Given the description of an element on the screen output the (x, y) to click on. 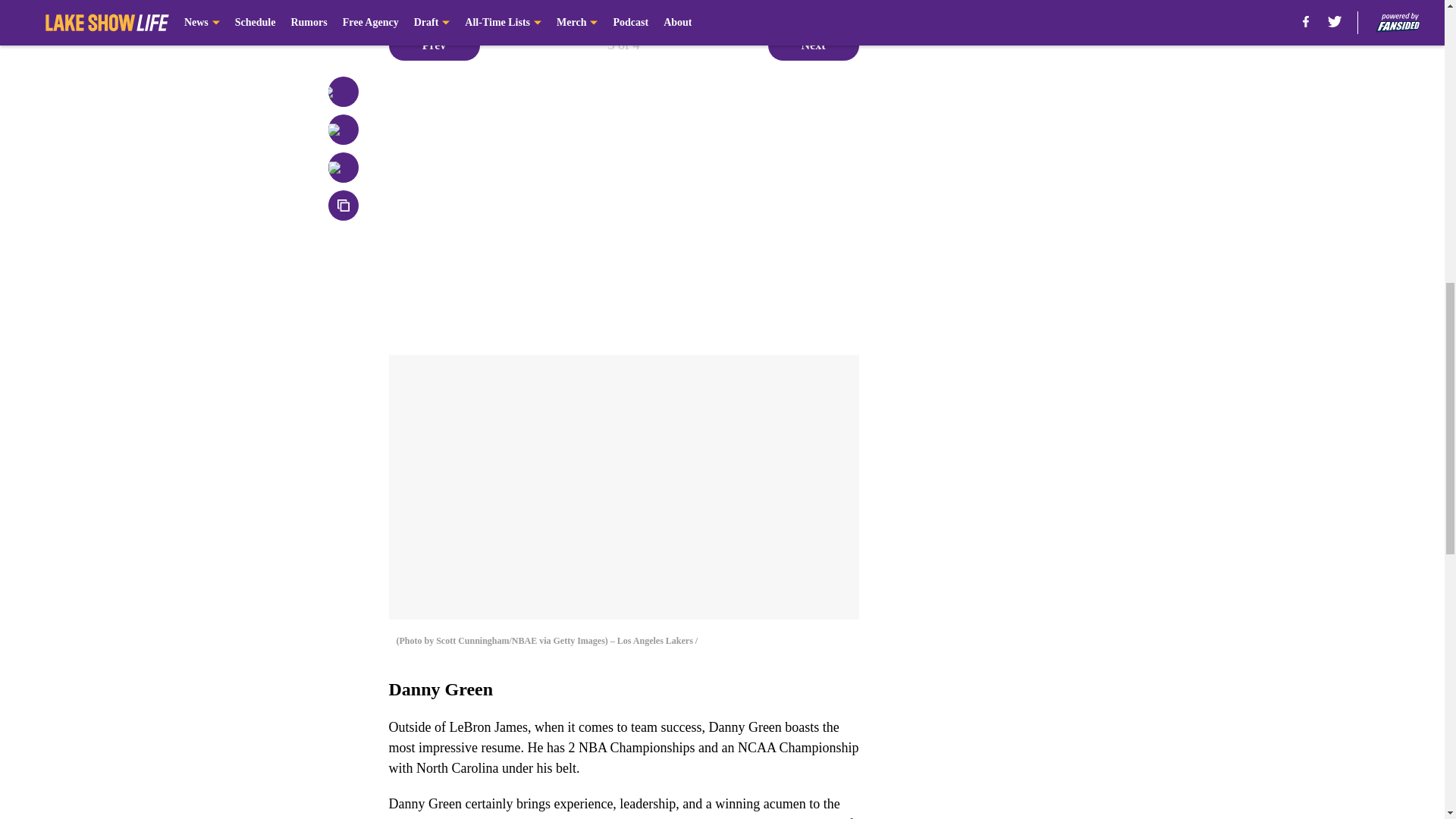
Prev (433, 45)
Next (813, 45)
